Given the description of an element on the screen output the (x, y) to click on. 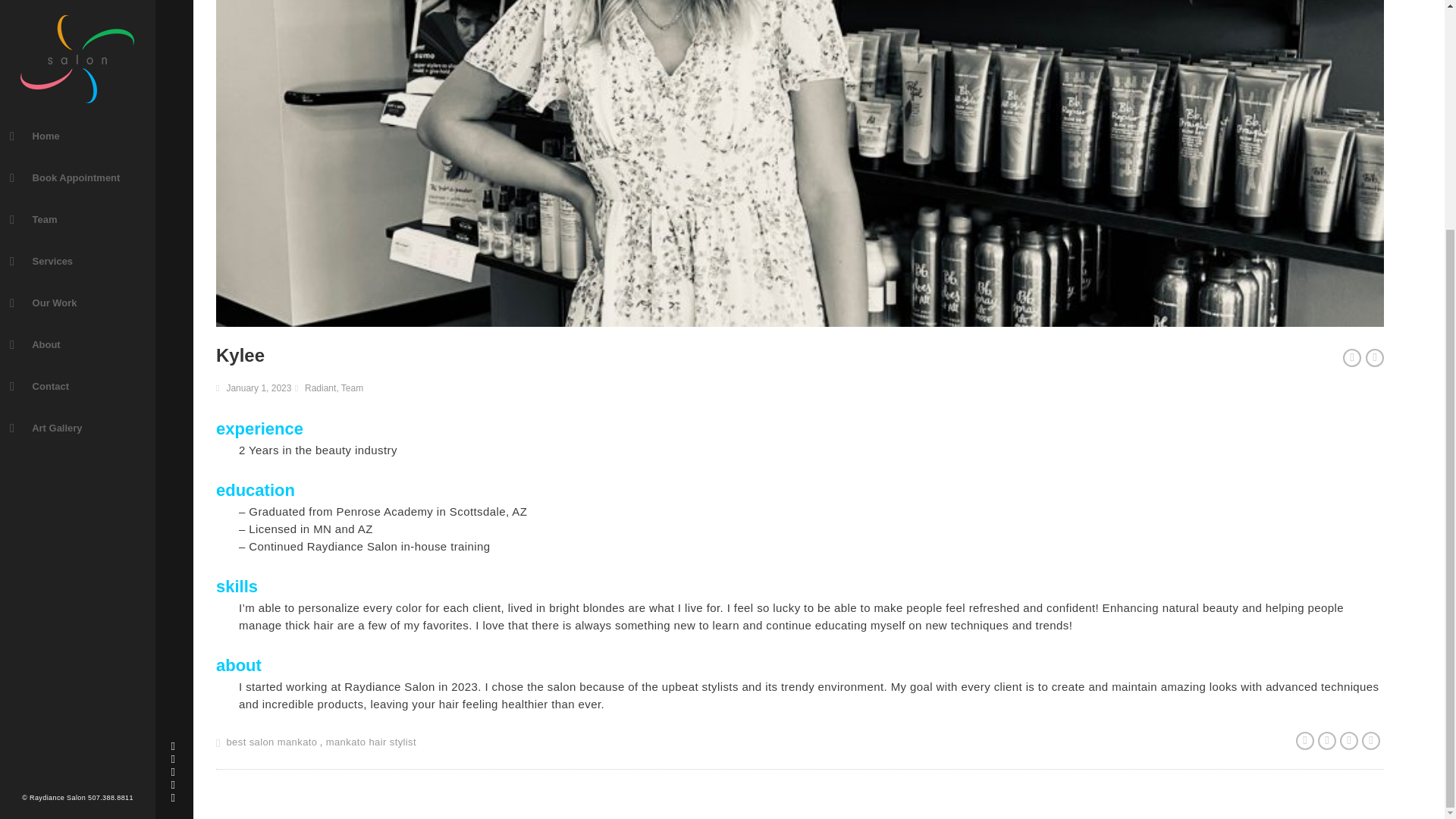
Team (351, 388)
Radiant (320, 388)
Contact (77, 76)
Art Gallery (77, 118)
mankato hair stylist (371, 741)
Our Work (77, 4)
best salon mankato (271, 741)
